Given the description of an element on the screen output the (x, y) to click on. 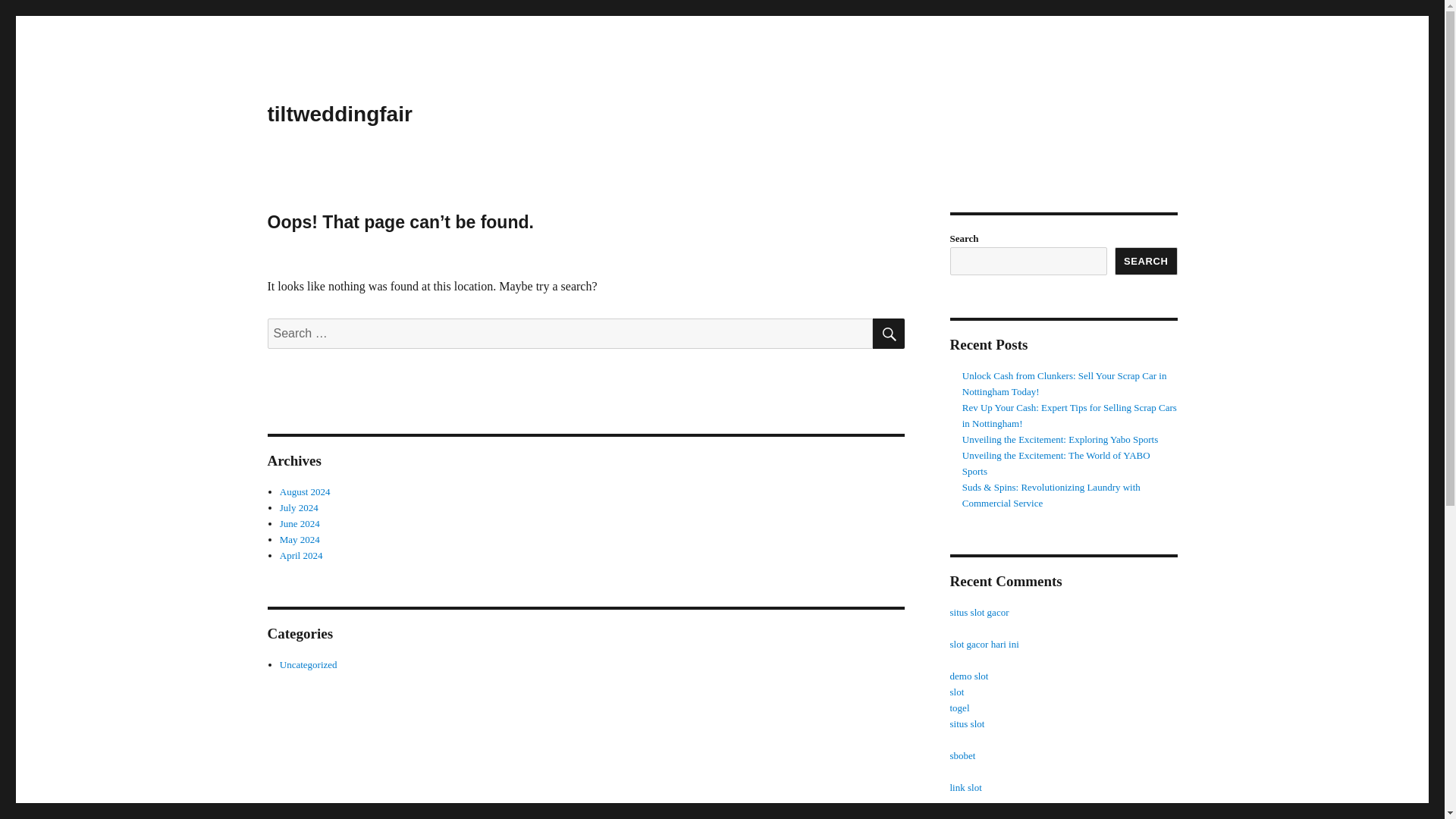
slot gacor hari ini (983, 816)
tiltweddingfair (339, 114)
togel (959, 707)
July 2024 (298, 507)
April 2024 (301, 555)
slot (956, 691)
situs slot gacor (979, 612)
Unveiling the Excitement: The World of YABO Sports (1056, 462)
Uncategorized (308, 664)
